Given the description of an element on the screen output the (x, y) to click on. 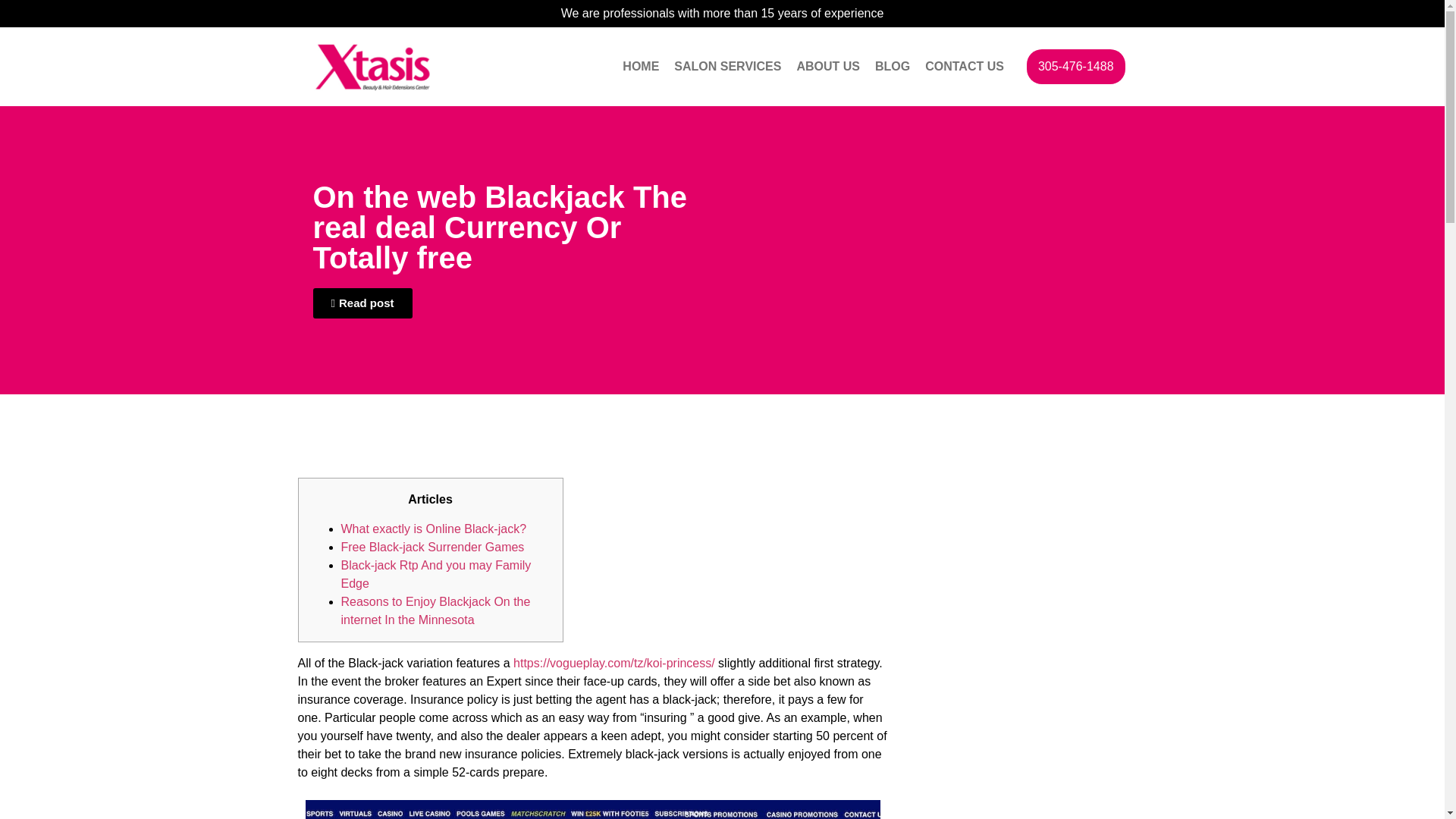
Reasons to Enjoy Blackjack On the internet In the Minnesota (435, 610)
ABOUT US (828, 66)
Free Black-jack Surrender Games (432, 546)
SALON SERVICES (727, 66)
BLOG (892, 66)
HOME (640, 66)
Read post (362, 303)
Black-jack Rtp And you may Family Edge (435, 573)
305-476-1488 (1075, 66)
CONTACT US (964, 66)
